Given the description of an element on the screen output the (x, y) to click on. 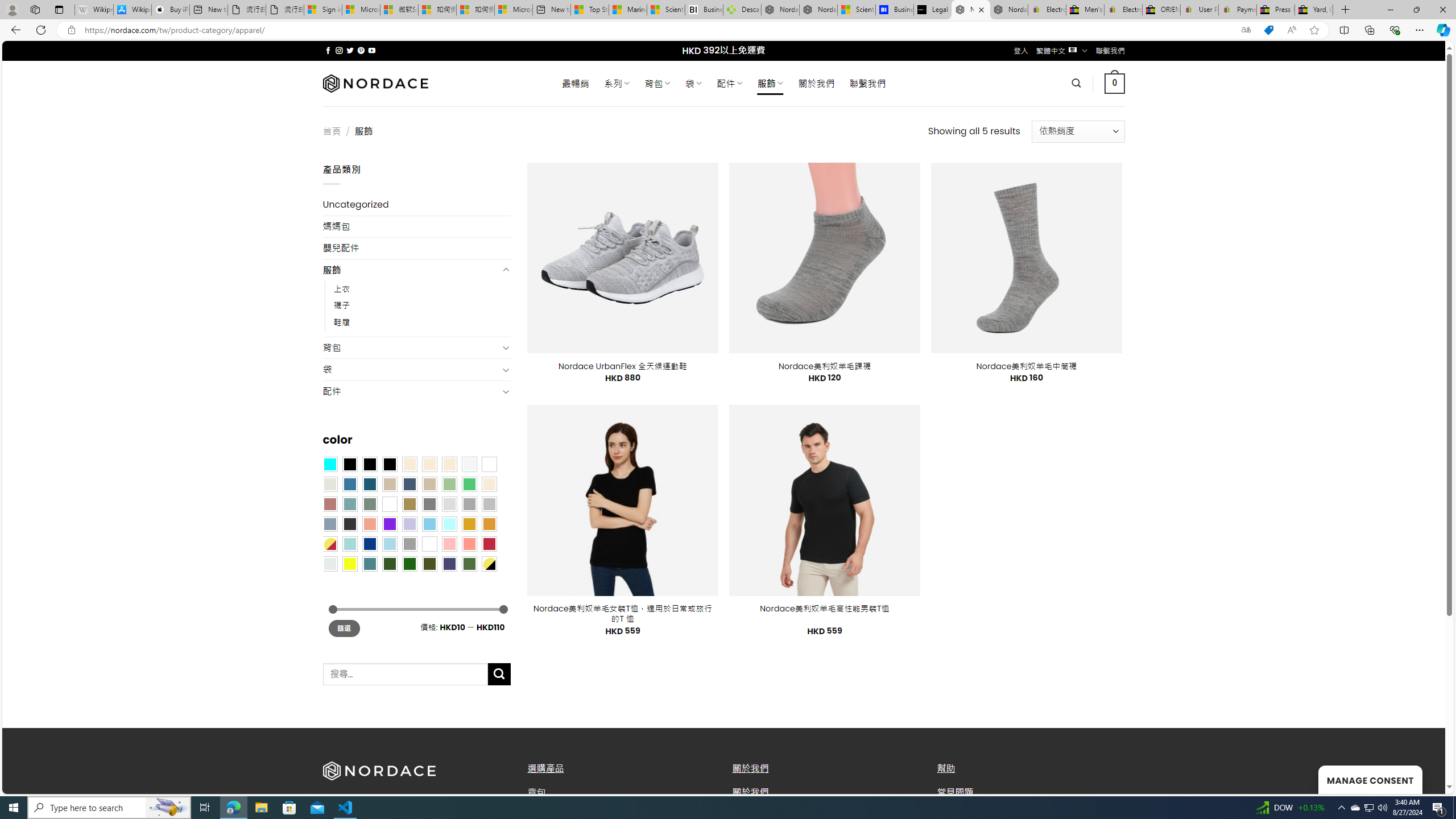
User Privacy Notice | eBay (1198, 9)
Nordace - Summer Adventures 2024 (780, 9)
Descarga Driver Updater (741, 9)
